Given the description of an element on the screen output the (x, y) to click on. 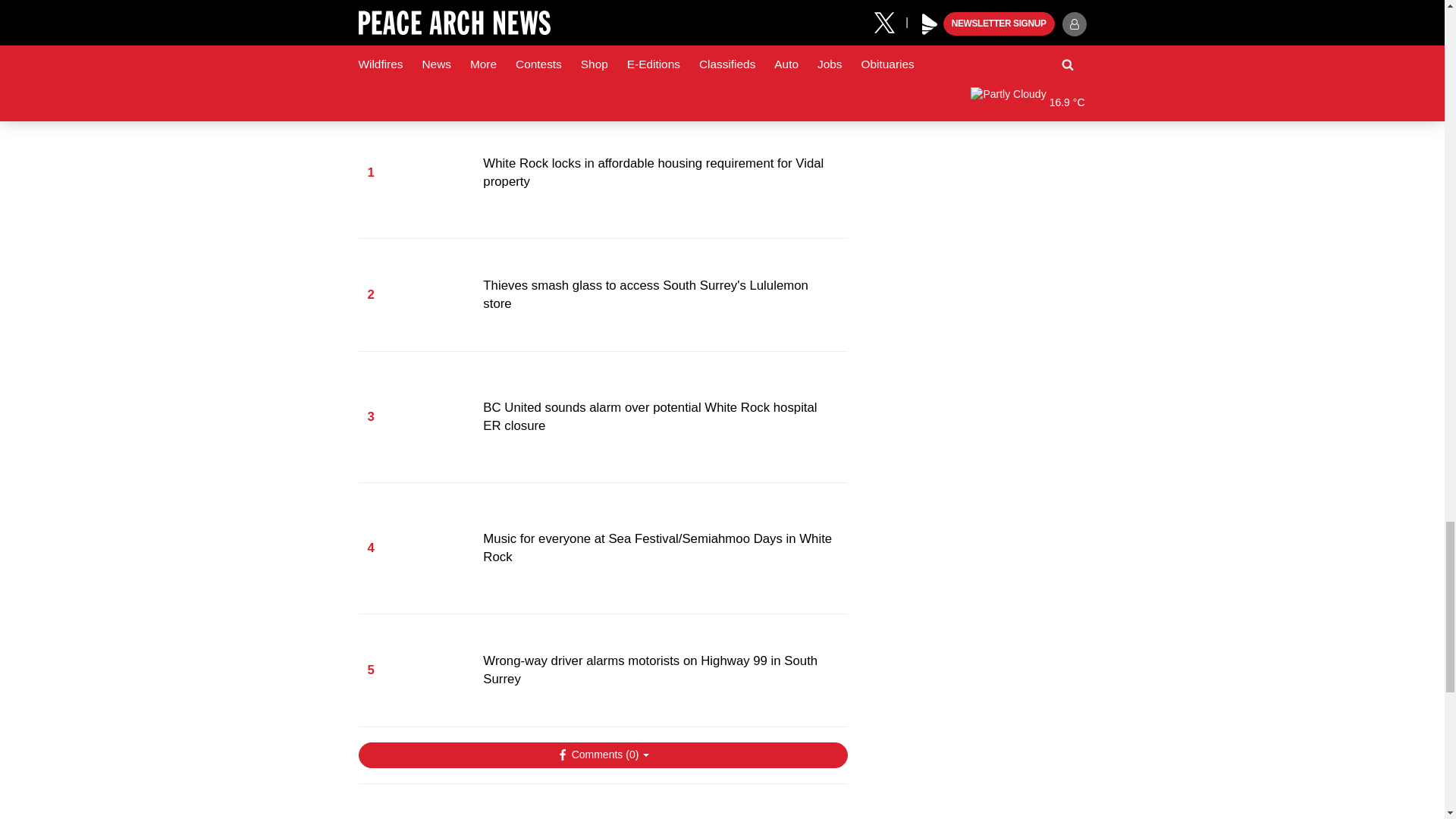
Show Comments (602, 755)
